Given the description of an element on the screen output the (x, y) to click on. 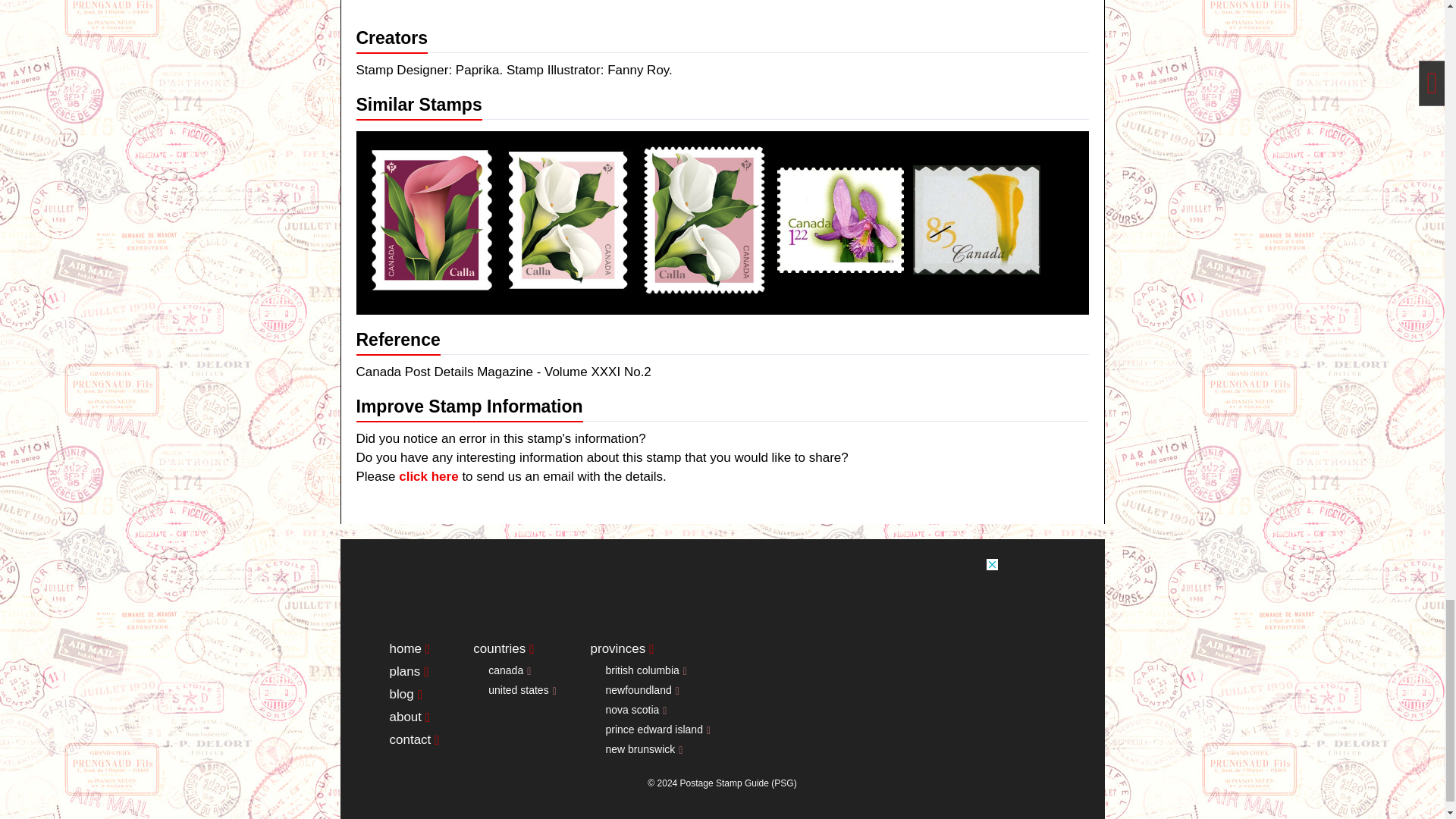
3rd party ad content (721, 591)
